Given the description of an element on the screen output the (x, y) to click on. 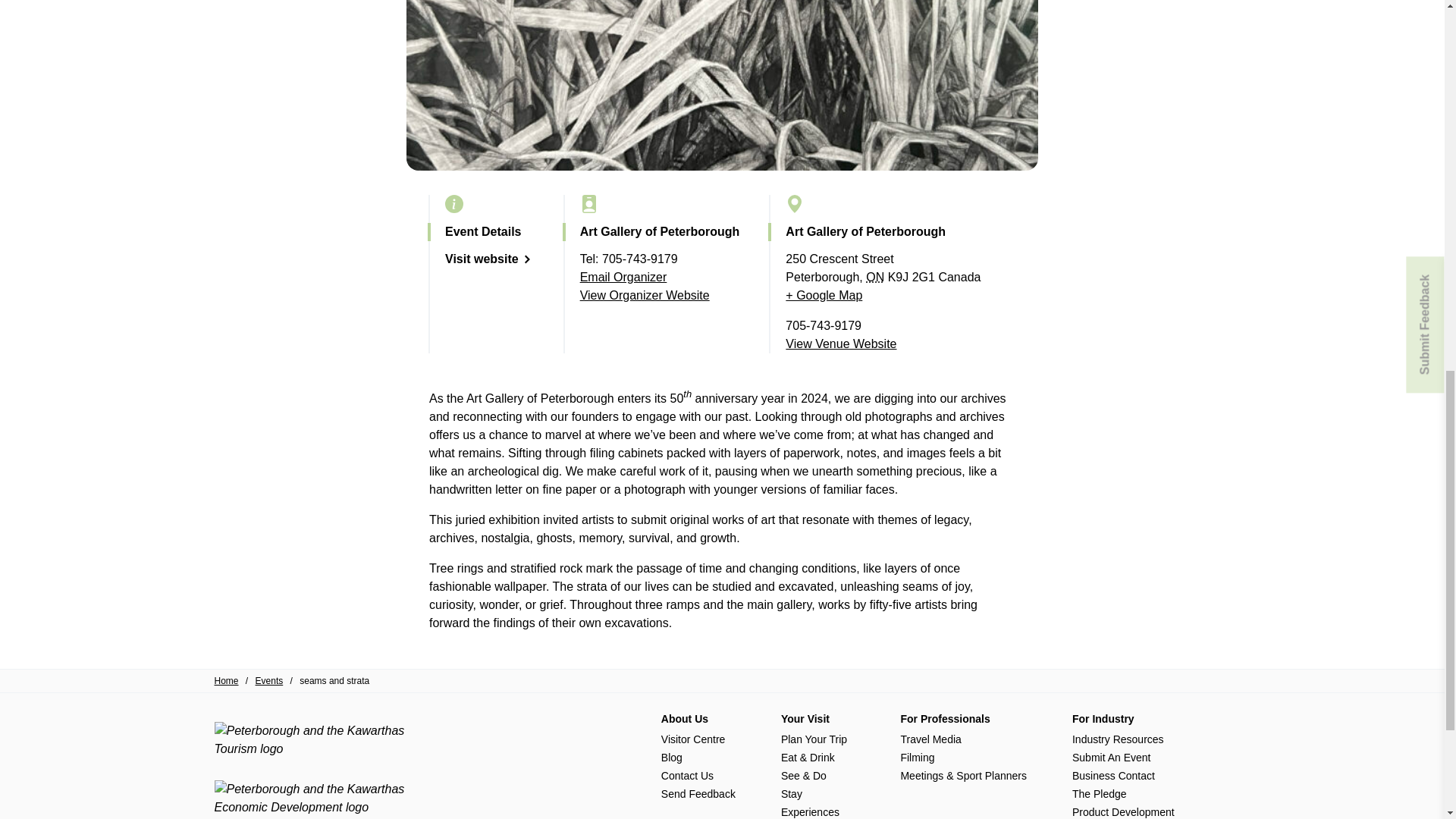
ON (874, 277)
Click to view a Google Map (823, 295)
